Given the description of an element on the screen output the (x, y) to click on. 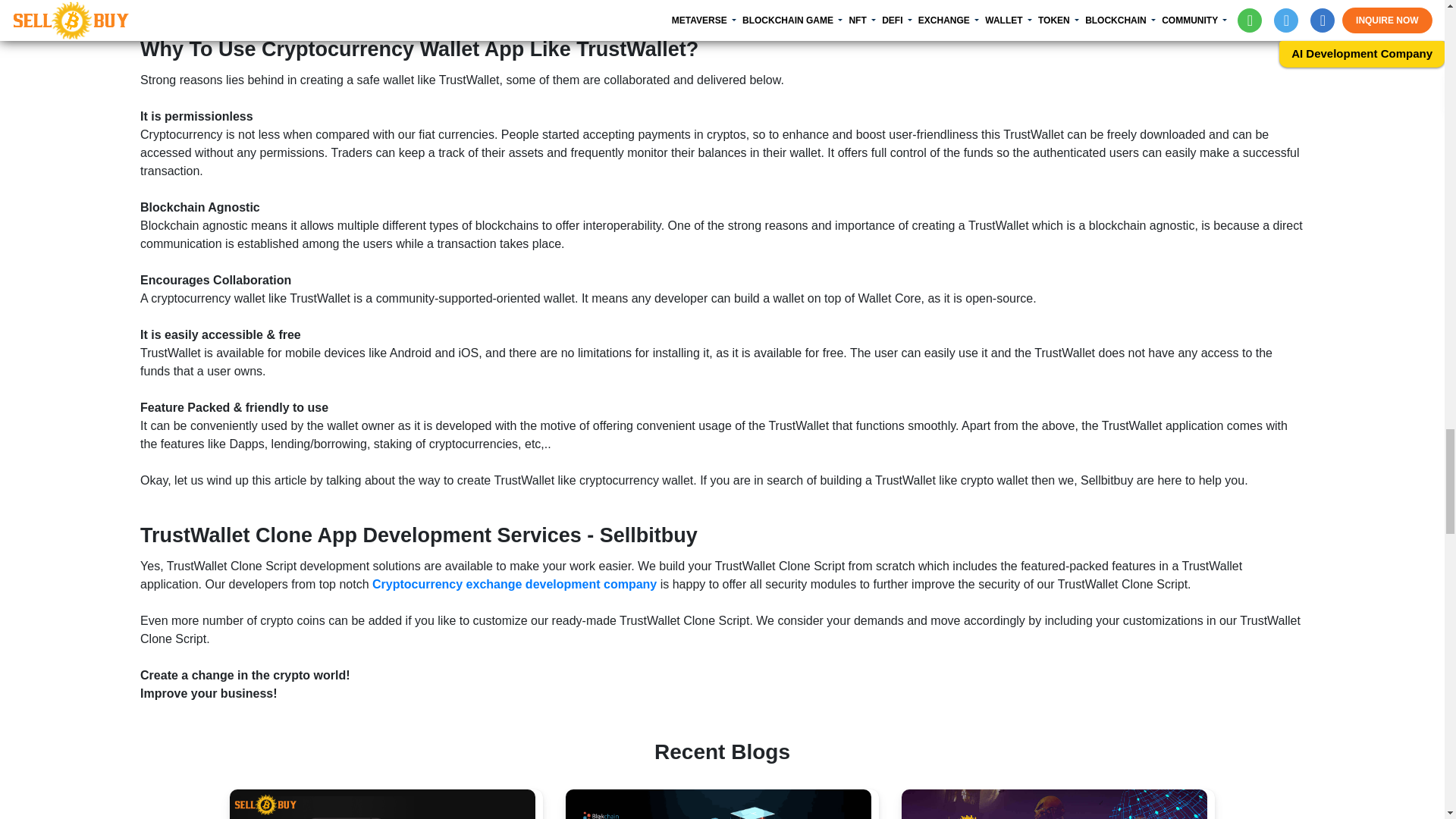
Blockchain Solutions Shaping 2024 (718, 804)
Metaverse Game Development Company - Sellbitbuy (1054, 804)
5 Best Crypto Exchange Development Companies in India (381, 804)
